Given the description of an element on the screen output the (x, y) to click on. 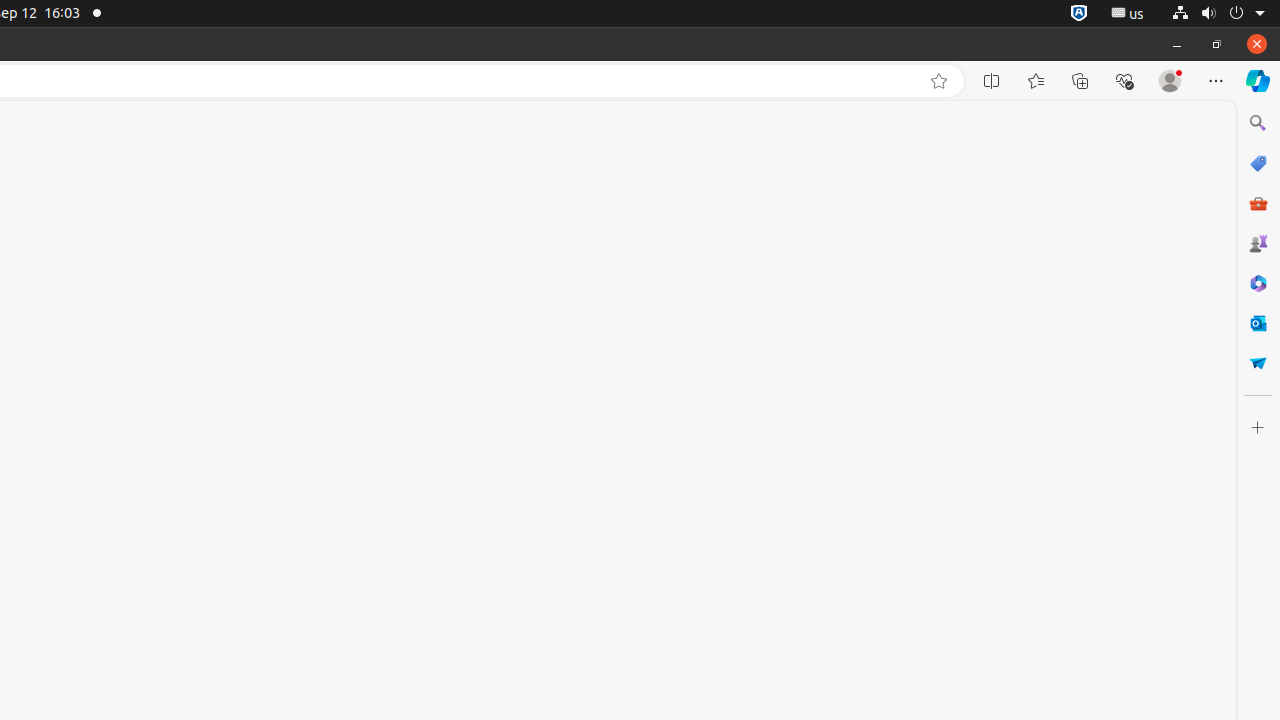
:1.72/StatusNotifierItem Element type: menu (1079, 13)
Favorites Element type: push-button (1036, 81)
Browser essentials Element type: push-button (1124, 81)
Split screen Element type: push-button (992, 81)
:1.21/StatusNotifierItem Element type: menu (1127, 13)
